Given the description of an element on the screen output the (x, y) to click on. 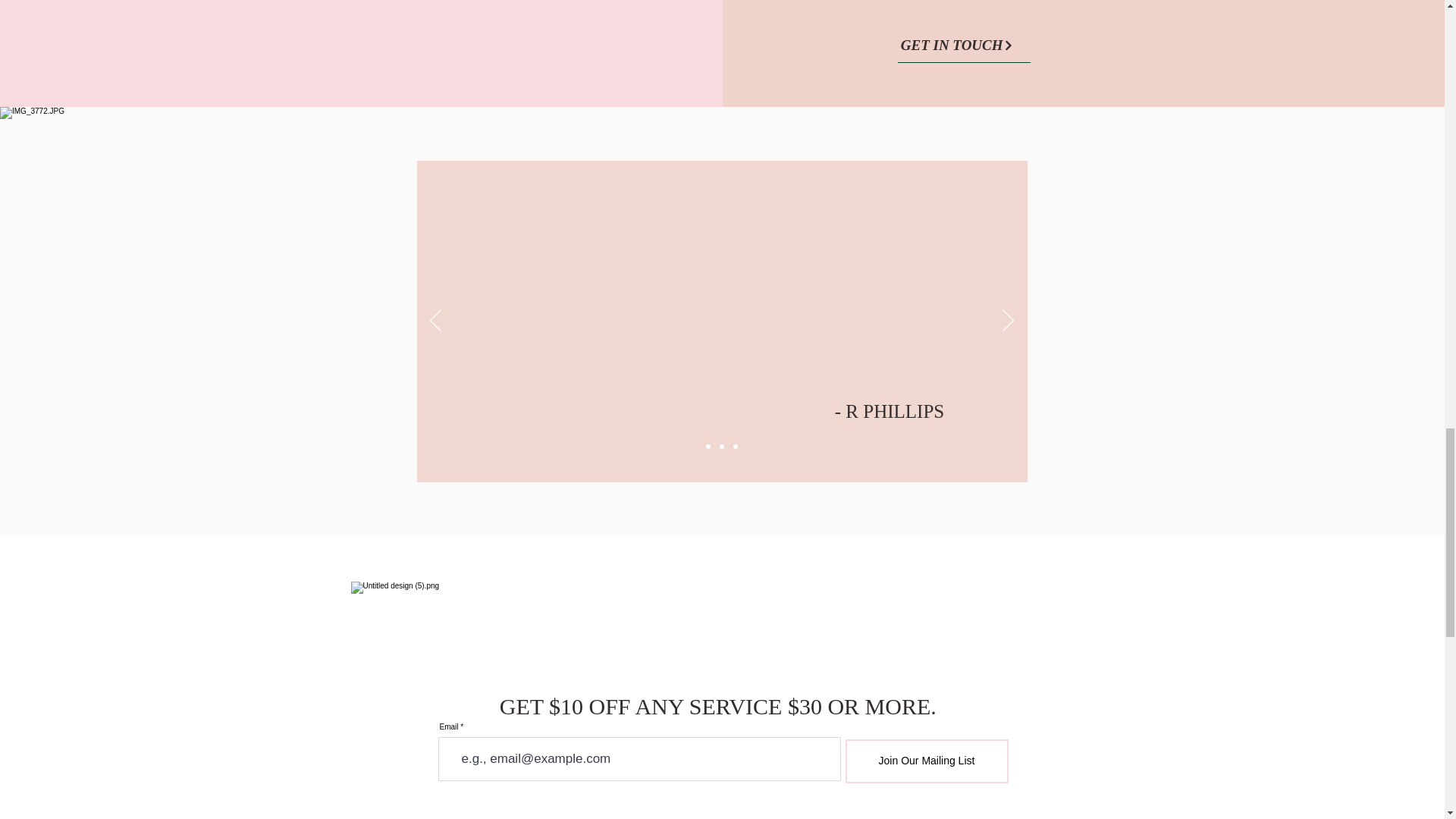
GET IN TOUCH (964, 45)
- R PHILLIPS  (891, 411)
Join Our Mailing List (925, 760)
